Given the description of an element on the screen output the (x, y) to click on. 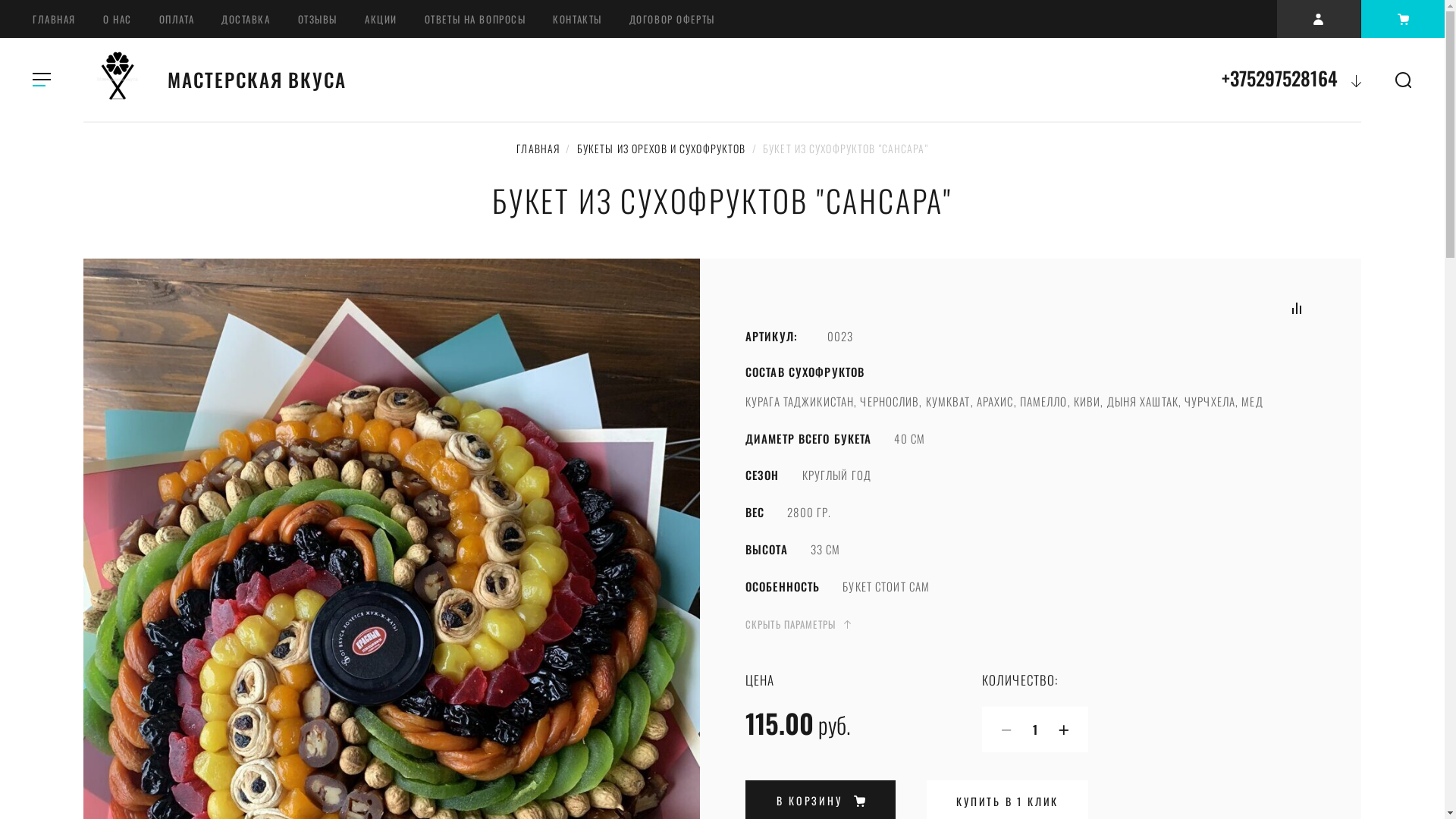
+ Element type: text (1071, 729)
+375297528164 Element type: text (1279, 77)
